Given the description of an element on the screen output the (x, y) to click on. 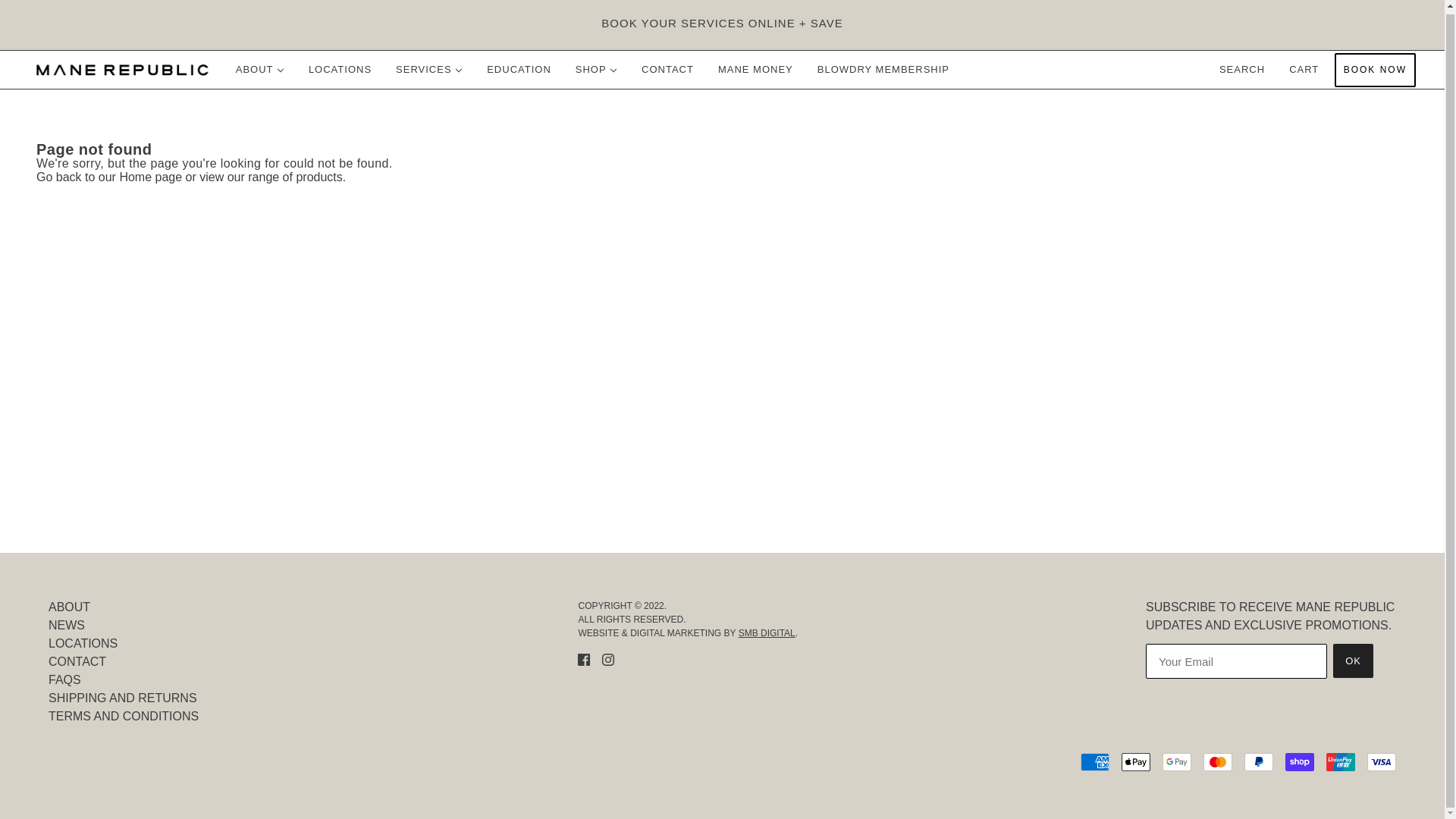
MANE MONEY (755, 69)
LOCATIONS (340, 69)
News (66, 625)
Terms and Conditions (123, 716)
Contact (77, 661)
ABOUT (260, 69)
Apple Pay (1135, 761)
Union Pay (1340, 761)
Shipping and Returns (122, 697)
SHOP (595, 69)
